Given the description of an element on the screen output the (x, y) to click on. 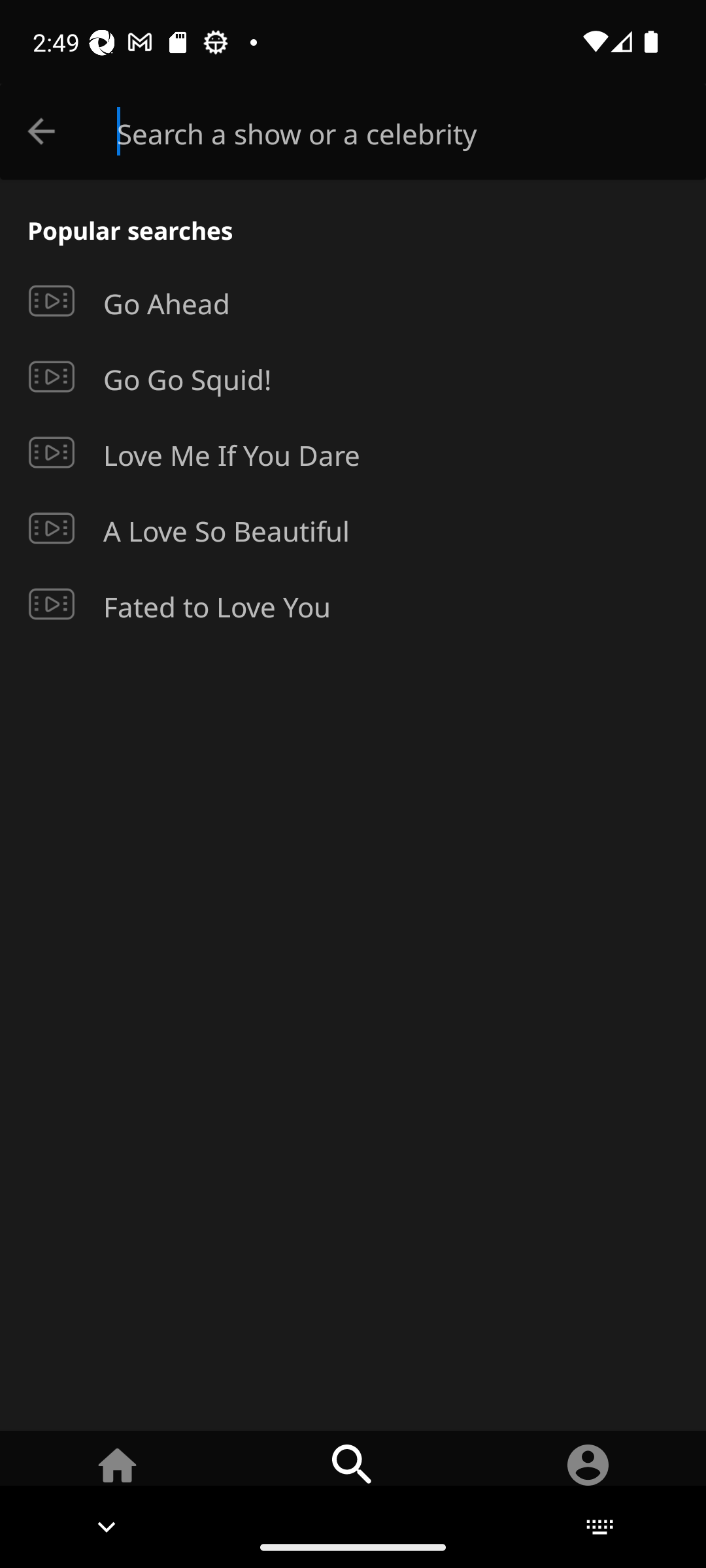
Search a show or a celebrity (411, 131)
Go Ahead (353, 300)
Go Go Squid! (353, 376)
Love Me If You Dare (353, 452)
A Love So Beautiful (353, 528)
Fated to Love You (353, 604)
Home (117, 1478)
Me (588, 1478)
